Given the description of an element on the screen output the (x, y) to click on. 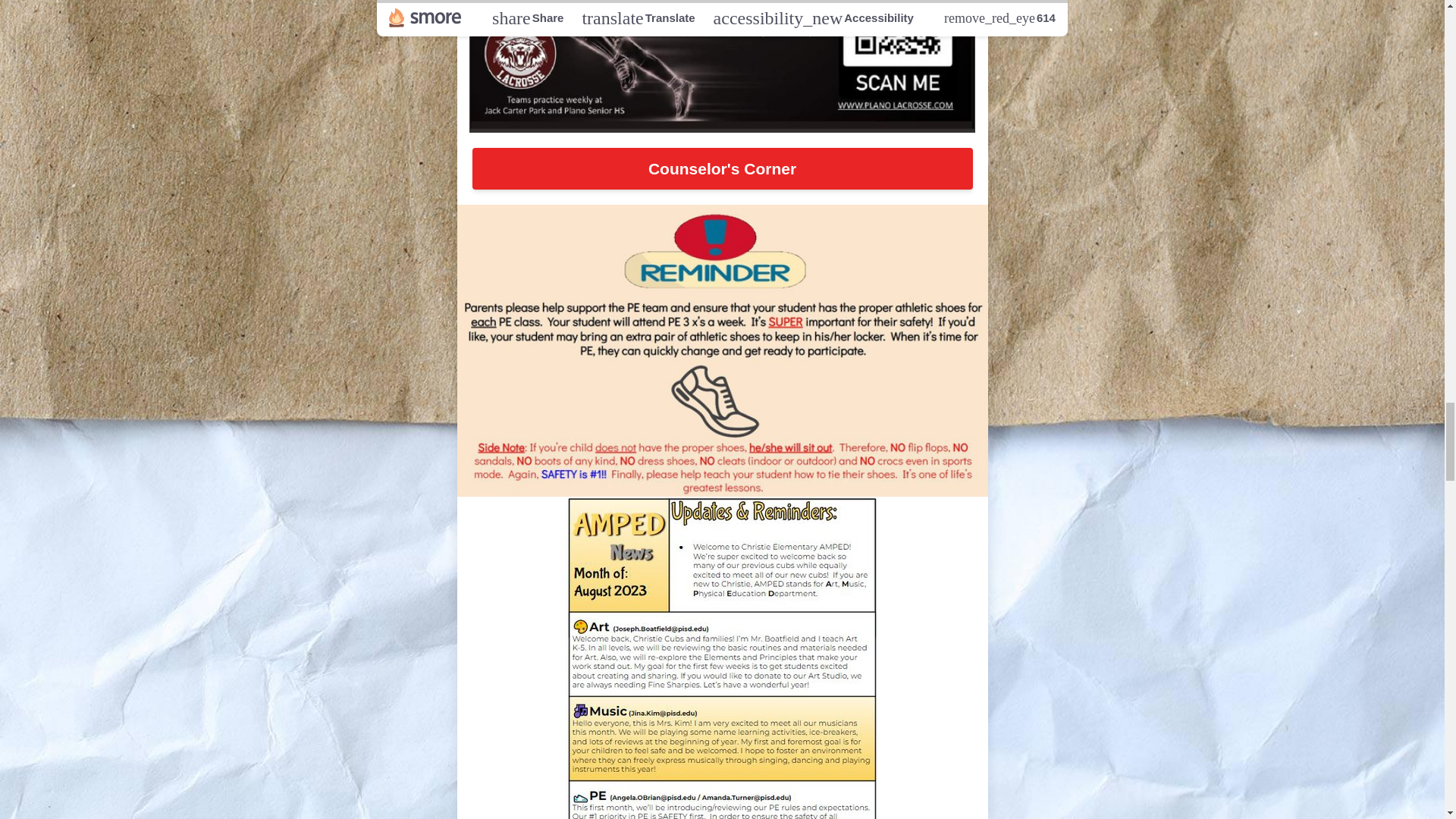
Counselor's Corner (721, 168)
